Given the description of an element on the screen output the (x, y) to click on. 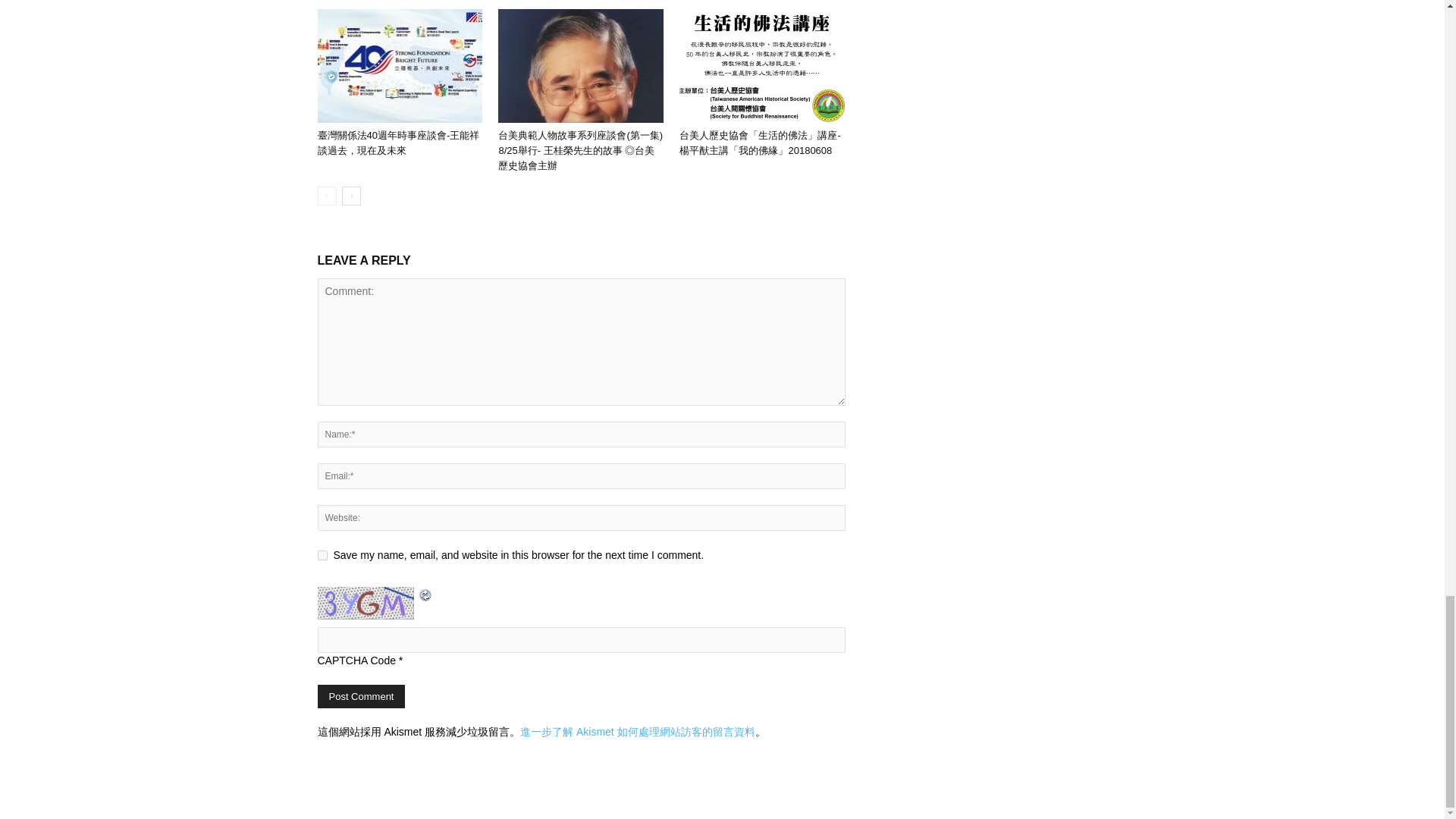
Post Comment (360, 696)
yes (321, 555)
